Given the description of an element on the screen output the (x, y) to click on. 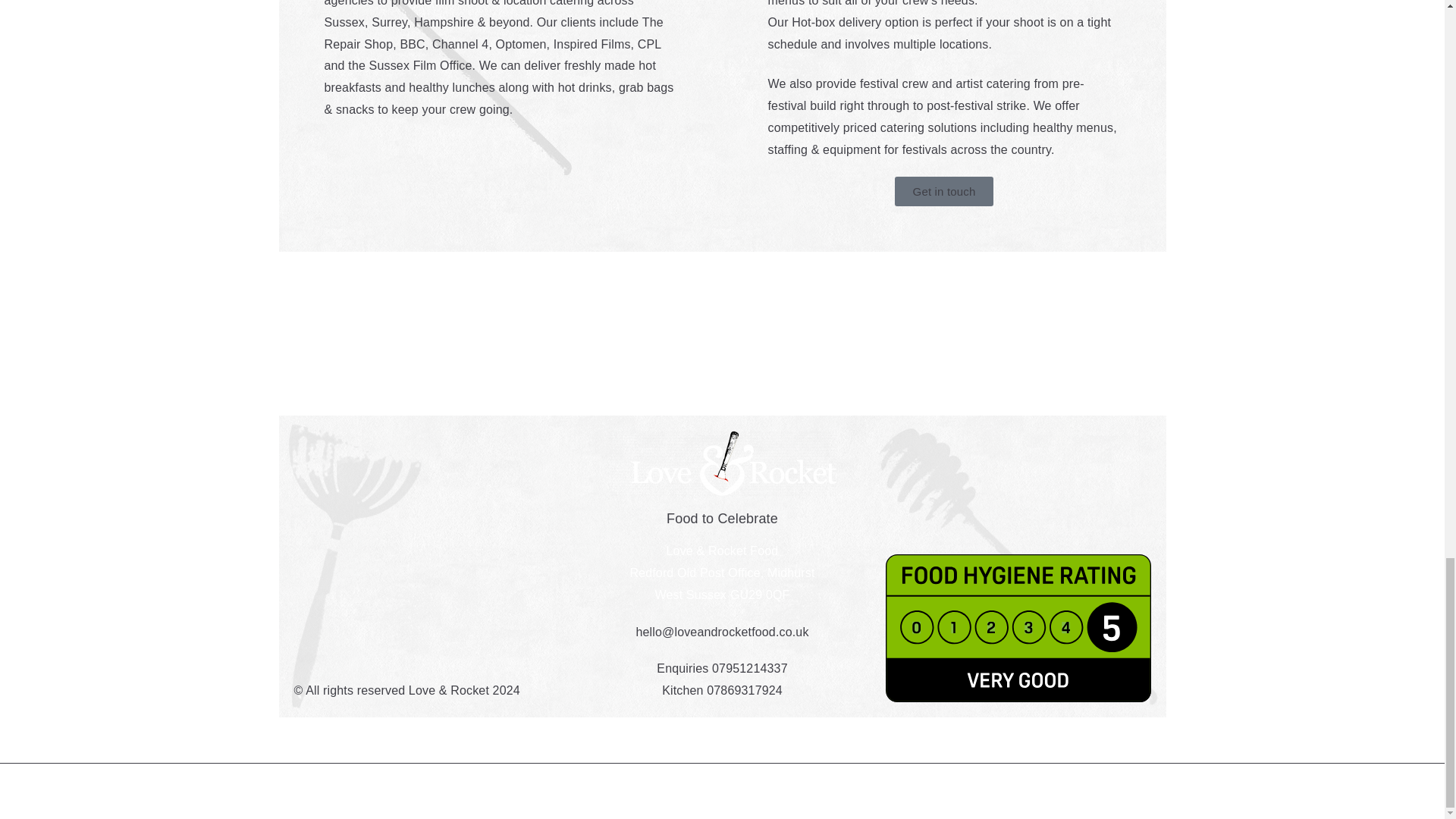
Contact (721, 791)
Get in touch (944, 191)
